Given the description of an element on the screen output the (x, y) to click on. 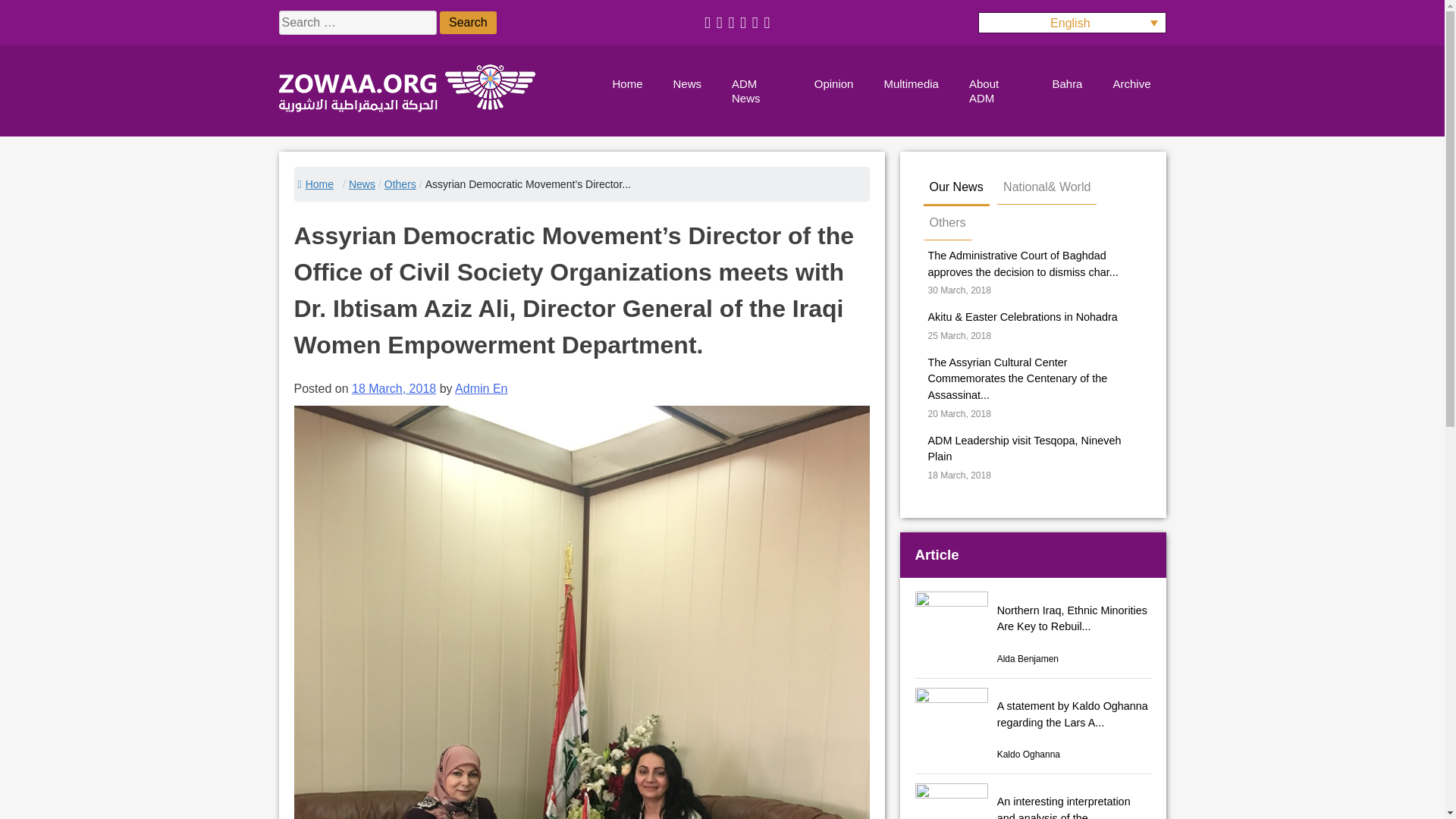
Search (467, 22)
Others (400, 184)
Search (467, 22)
Opinion (834, 84)
About ADM (994, 91)
Home (313, 184)
English (1072, 23)
Archive (1131, 84)
Search (467, 22)
ADM News (757, 91)
